Given the description of an element on the screen output the (x, y) to click on. 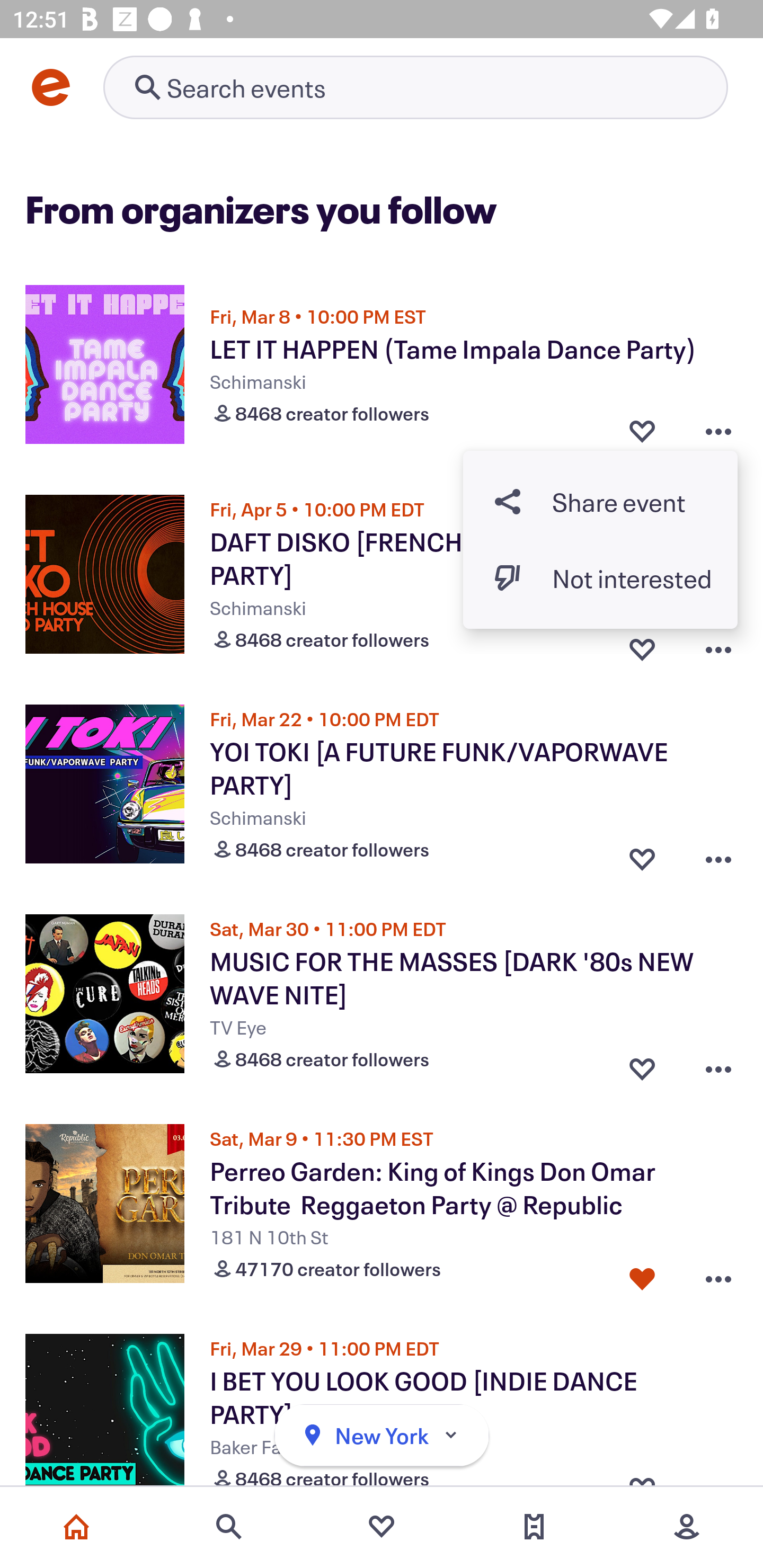
Share button Share event (600, 501)
Dislike event button Not interested (600, 577)
